Given the description of an element on the screen output the (x, y) to click on. 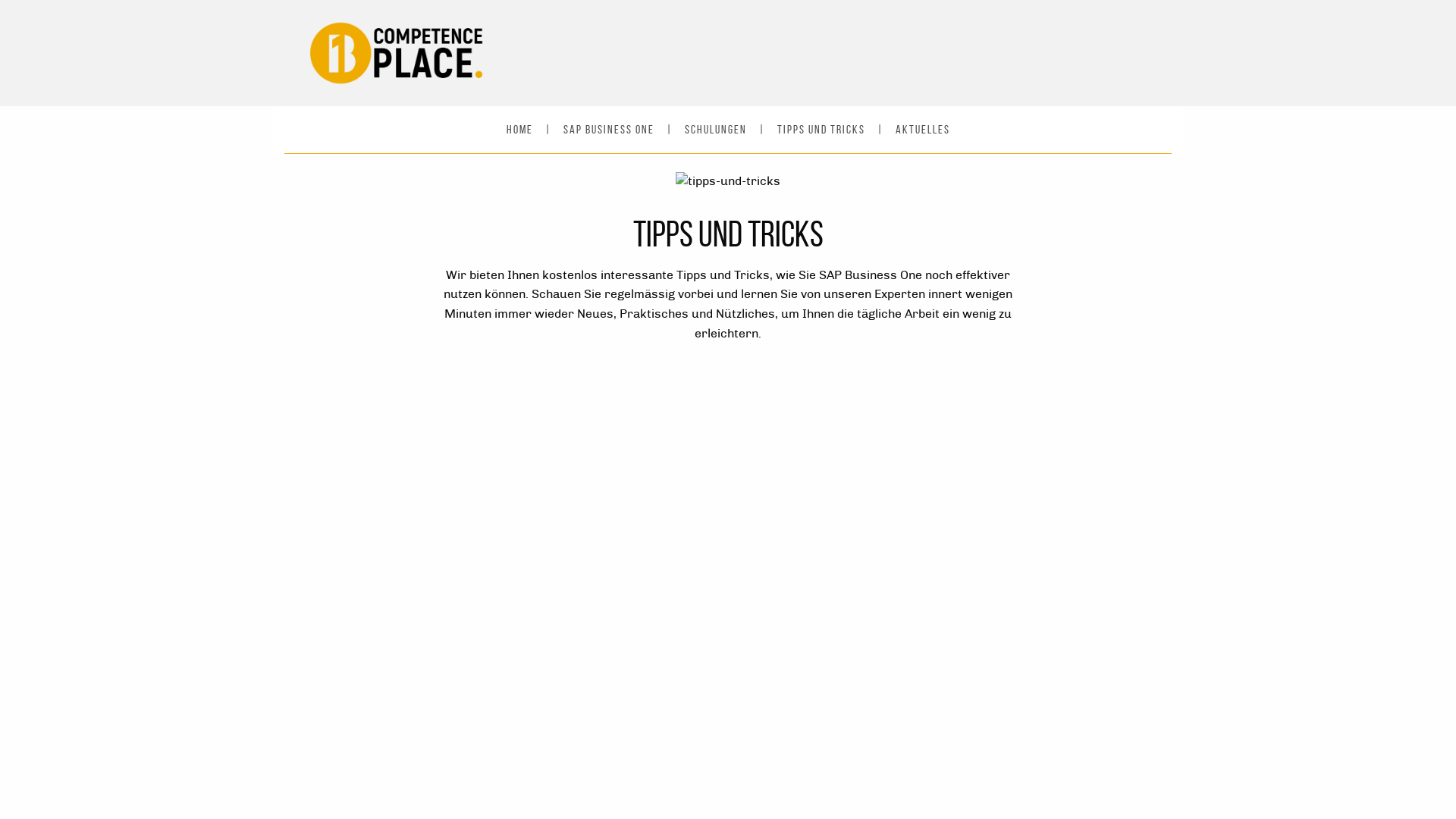
Tipps und Tricks Element type: text (820, 128)
SAP Business One Element type: text (607, 128)
Home Element type: text (519, 128)
Aktuelles Element type: text (921, 128)
Schulungen Element type: text (715, 128)
